Given the description of an element on the screen output the (x, y) to click on. 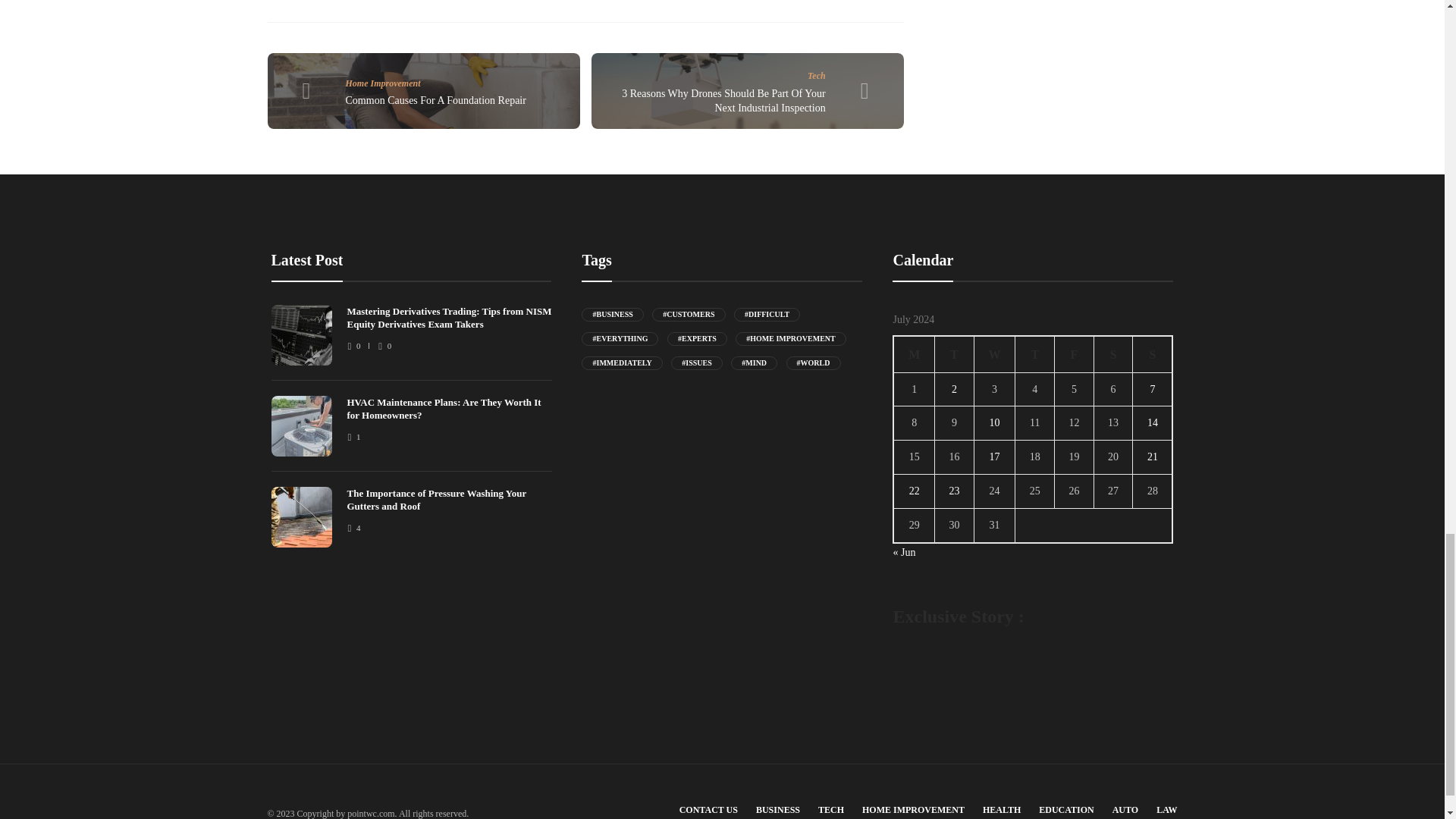
Sunday (1152, 353)
Thursday (1034, 353)
Friday (1074, 353)
Saturday (1112, 353)
Tuesday (954, 353)
Monday (913, 353)
Wednesday (994, 353)
